Given the description of an element on the screen output the (x, y) to click on. 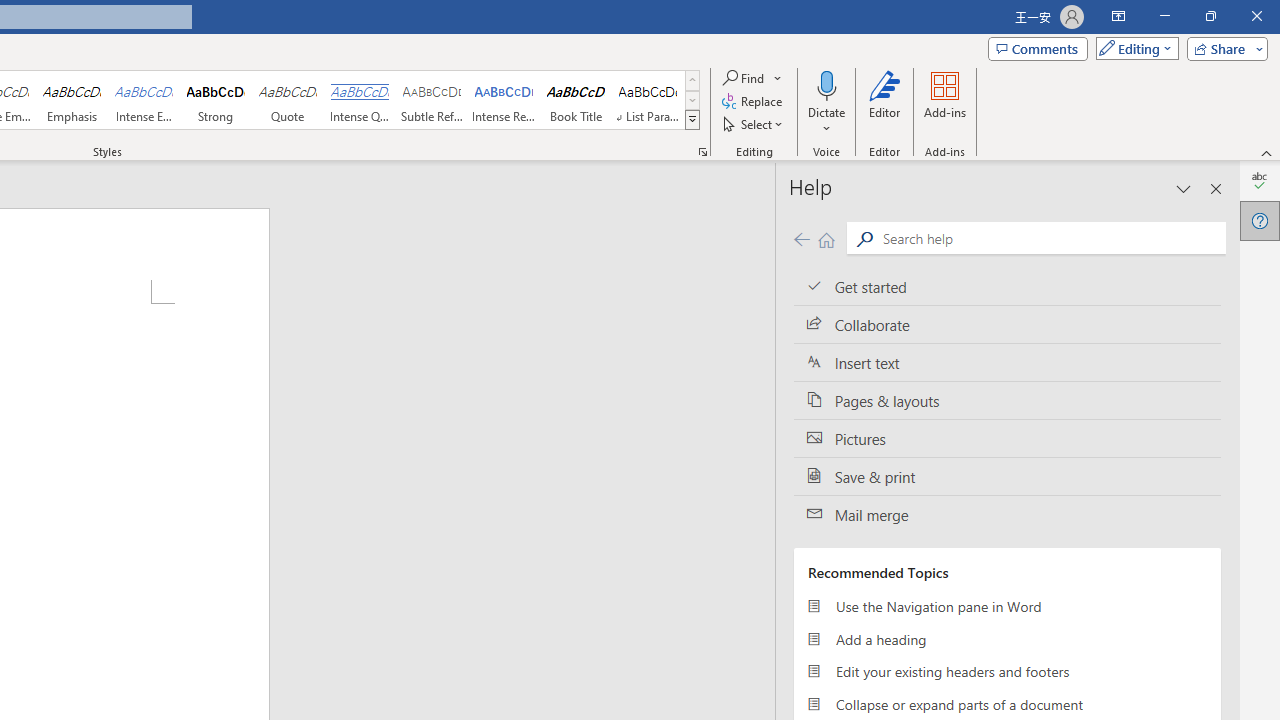
Get started (1007, 286)
Collapse or expand parts of a document (1007, 704)
Pages & layouts (1007, 400)
Book Title (575, 100)
